Given the description of an element on the screen output the (x, y) to click on. 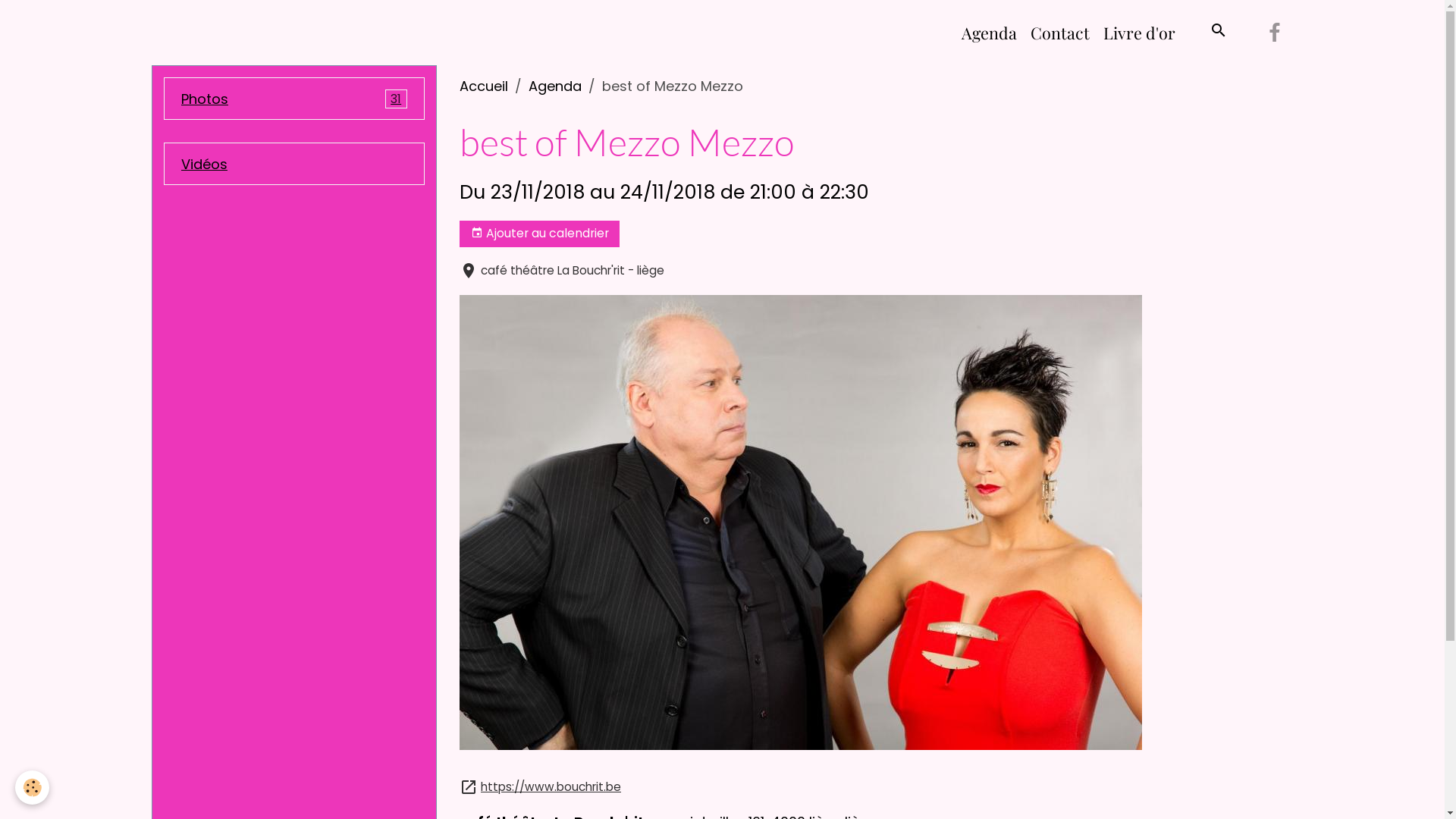
Livre d'or Element type: text (1139, 32)
Agenda Element type: text (987, 32)
Accueil Element type: text (483, 85)
Contact Element type: text (1059, 32)
Photos
31 Element type: text (294, 98)
https://www.bouchrit.be Element type: text (550, 786)
Ajouter au calendrier Element type: text (539, 232)
Agenda Element type: text (554, 85)
